Given the description of an element on the screen output the (x, y) to click on. 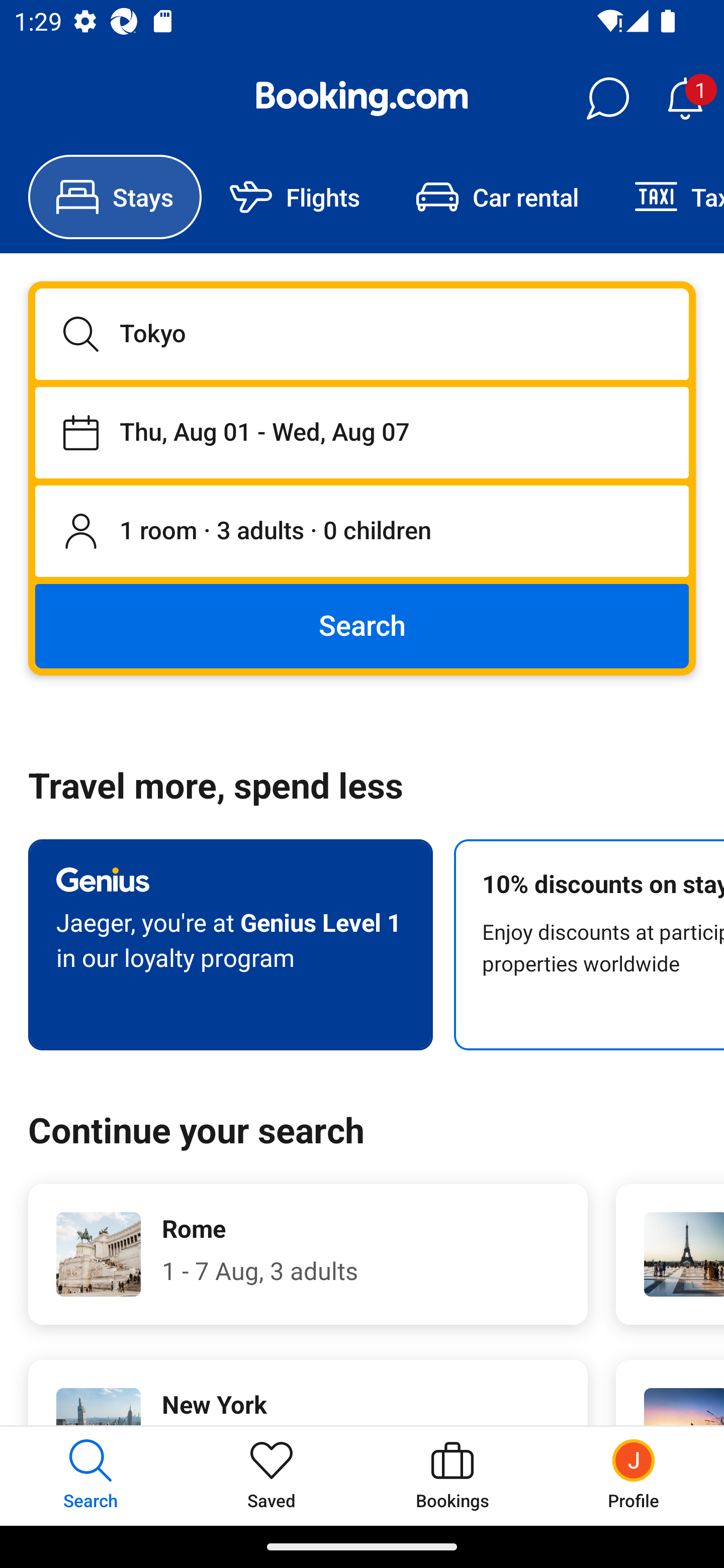
Messages (607, 98)
Notifications (685, 98)
Stays (114, 197)
Flights (294, 197)
Car rental (497, 197)
Taxi (665, 197)
Tokyo (361, 333)
Staying from Thu, Aug 01 until Wed, Aug 07 (361, 432)
1 room, 3 adults, 0 children (361, 531)
Search (361, 625)
Rome 1 - 7 Aug, 3 adults (307, 1253)
Saved (271, 1475)
Bookings (452, 1475)
Profile (633, 1475)
